Given the description of an element on the screen output the (x, y) to click on. 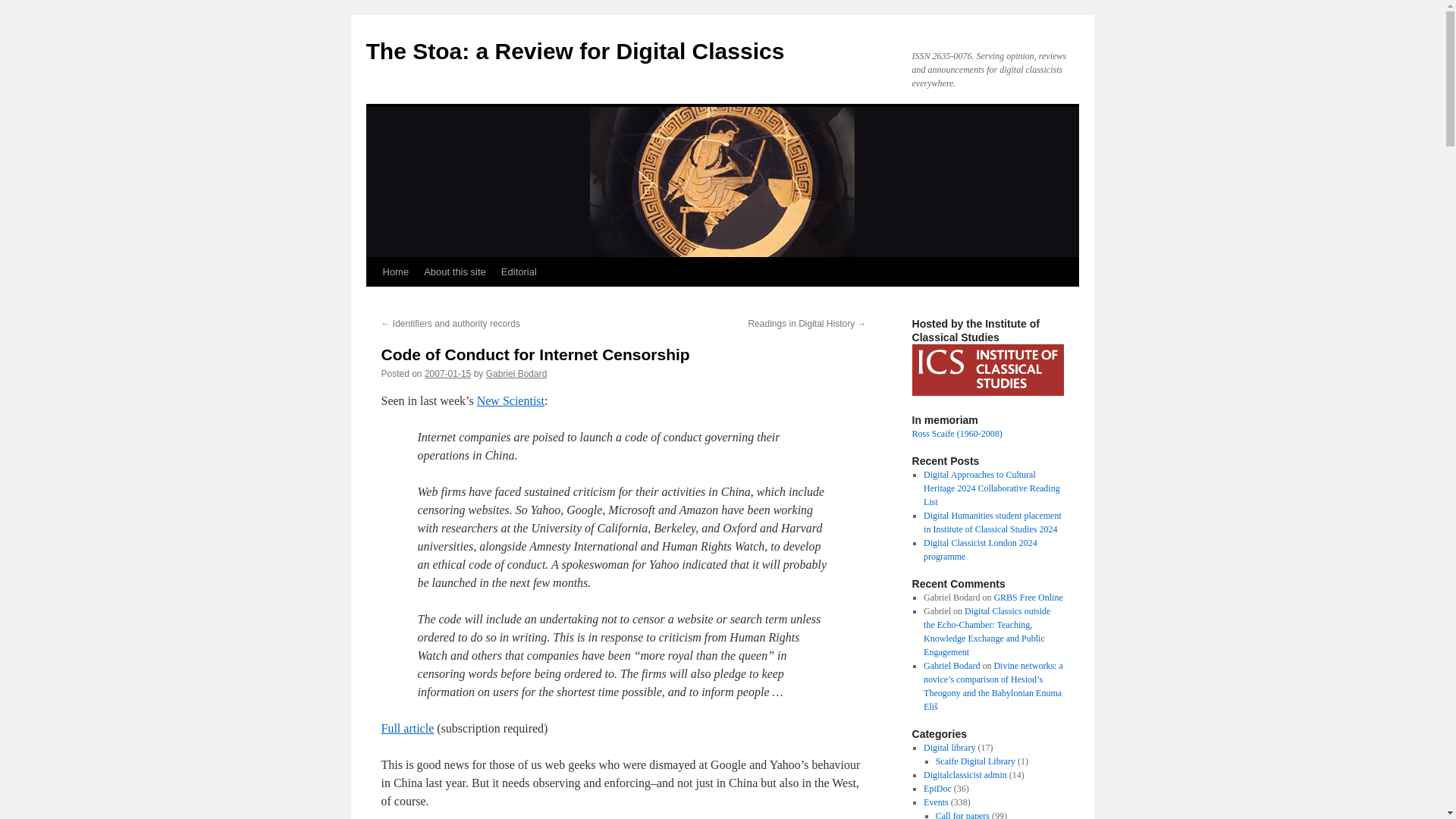
EpiDoc (937, 787)
Gabriel Bodard (516, 373)
The Stoa: a Review for Digital Classics (574, 50)
About this site (454, 271)
Call for papers (963, 814)
GRBS Free Online (1027, 597)
Digitalclassicist admin (965, 774)
View all posts by Gabriel Bodard (516, 373)
